Given the description of an element on the screen output the (x, y) to click on. 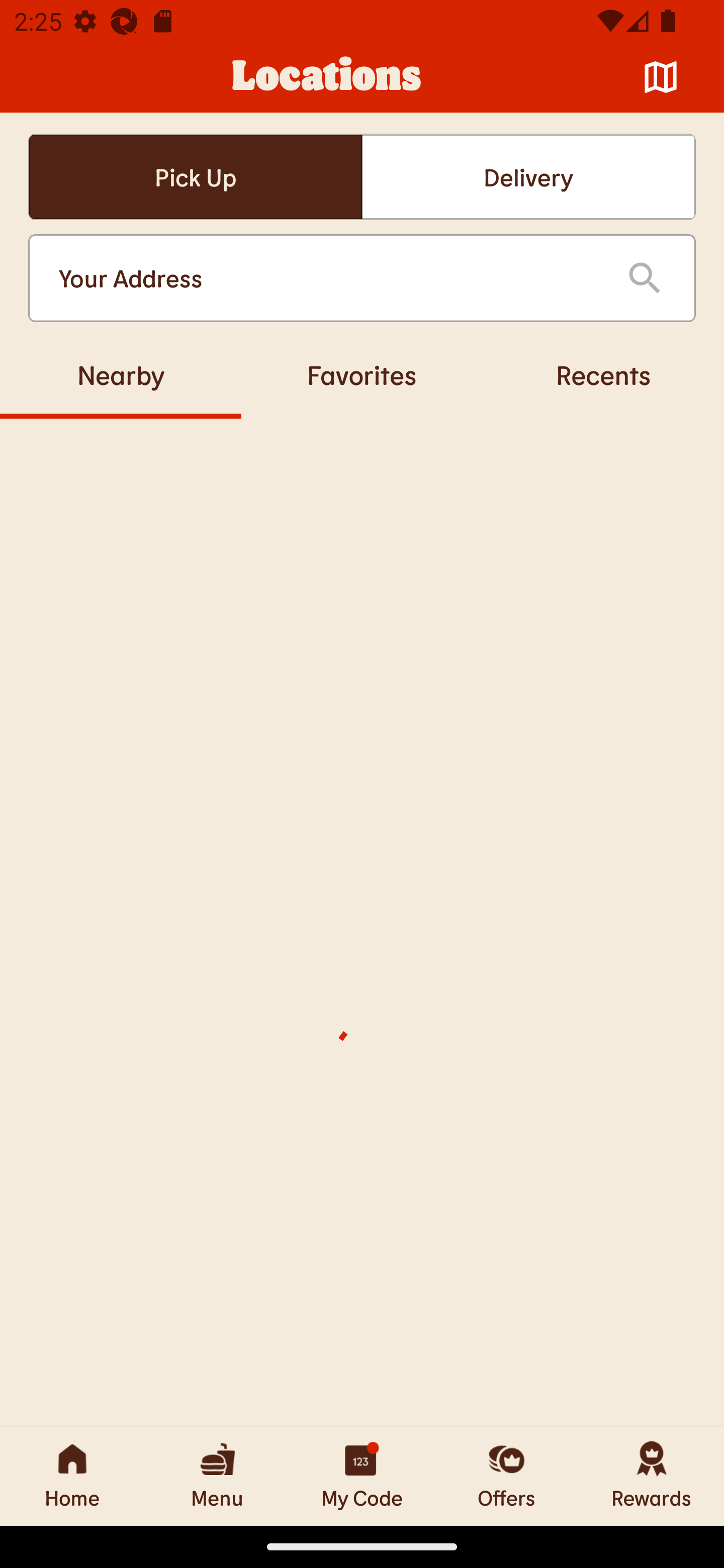
Map 󰦂 (660, 77)
Locations (326, 77)
Pick UpSelected Pick UpSelected Pick Up (195, 176)
Delivery Delivery Delivery (528, 176)
Your Address (327, 277)
Nearby (120, 374)
Favorites (361, 374)
Recents (603, 374)
Home (72, 1475)
Menu (216, 1475)
My Code (361, 1475)
Offers (506, 1475)
Rewards (651, 1475)
